Given the description of an element on the screen output the (x, y) to click on. 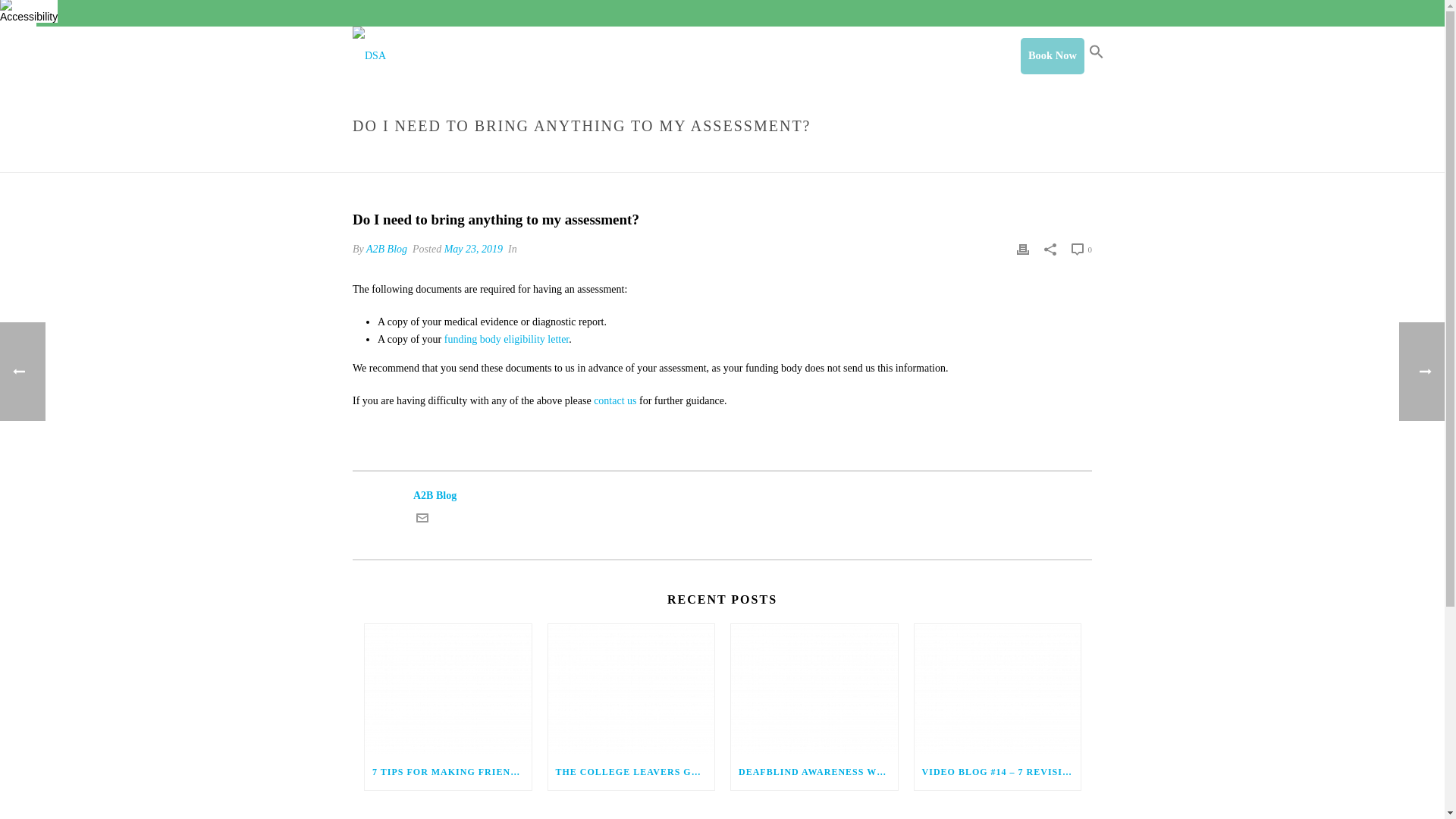
A2B Blog (722, 495)
Posts by A2B Blog (386, 248)
HOME (788, 157)
ontact us (617, 400)
0 (1081, 249)
Get in touch with me via email (422, 520)
Book Now (1052, 55)
DEAFBLIND AWARENESS WEEK: DSA SUPPORT (814, 771)
funding body eligibility letter (506, 338)
Accessibility Helper sidebar (18, 14)
